Given the description of an element on the screen output the (x, y) to click on. 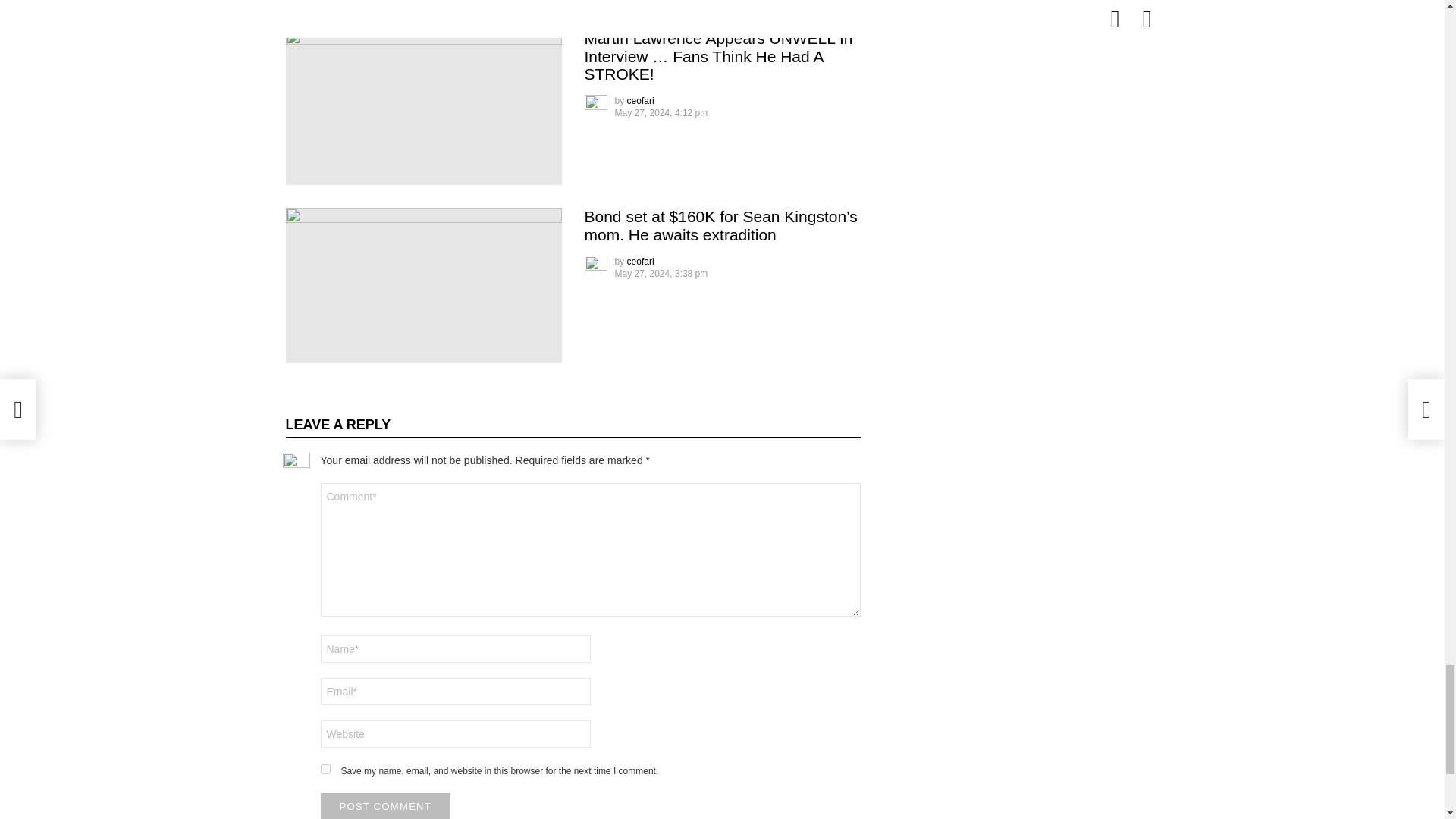
yes (325, 768)
Post Comment (384, 806)
